Given the description of an element on the screen output the (x, y) to click on. 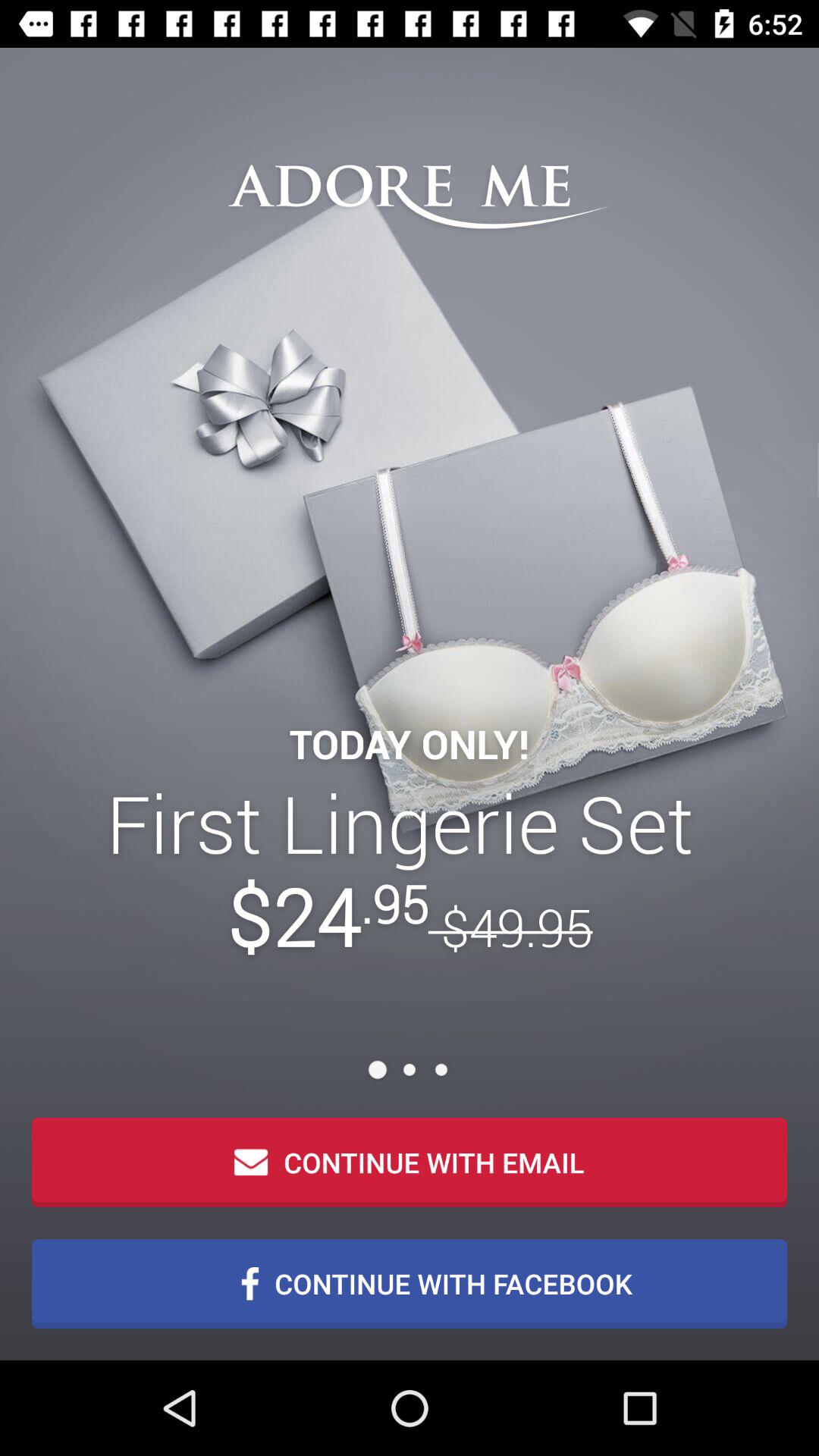
click the icon below today only! (409, 869)
